Given the description of an element on the screen output the (x, y) to click on. 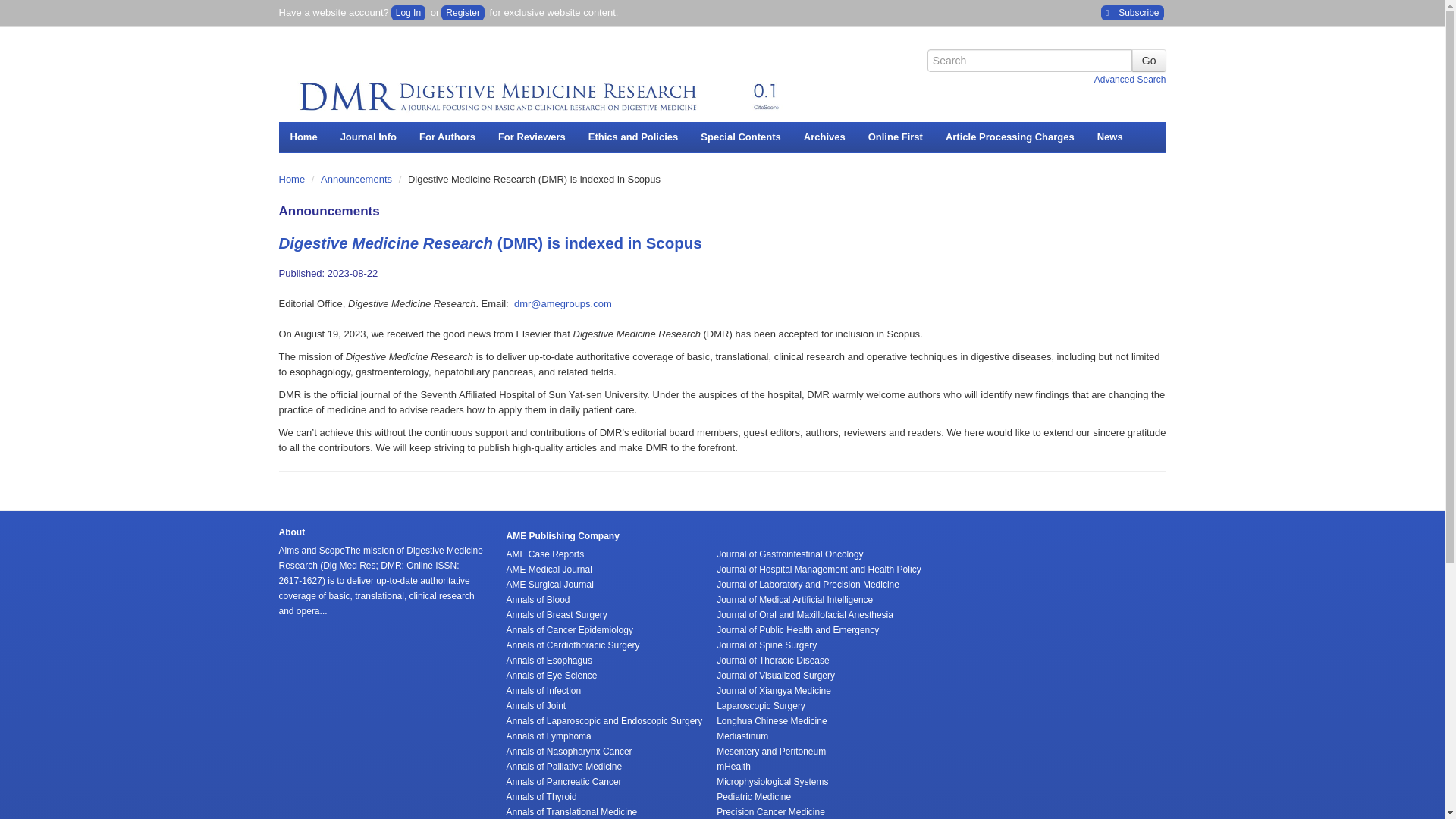
Ethics and Policies (633, 136)
Go (1149, 60)
Go (1149, 60)
Log In (408, 12)
Digestive Medicine Research (544, 82)
 Subscribe (1131, 12)
Register (462, 12)
Journal Info (368, 136)
For Reviewers (531, 136)
Home (304, 136)
